Given the description of an element on the screen output the (x, y) to click on. 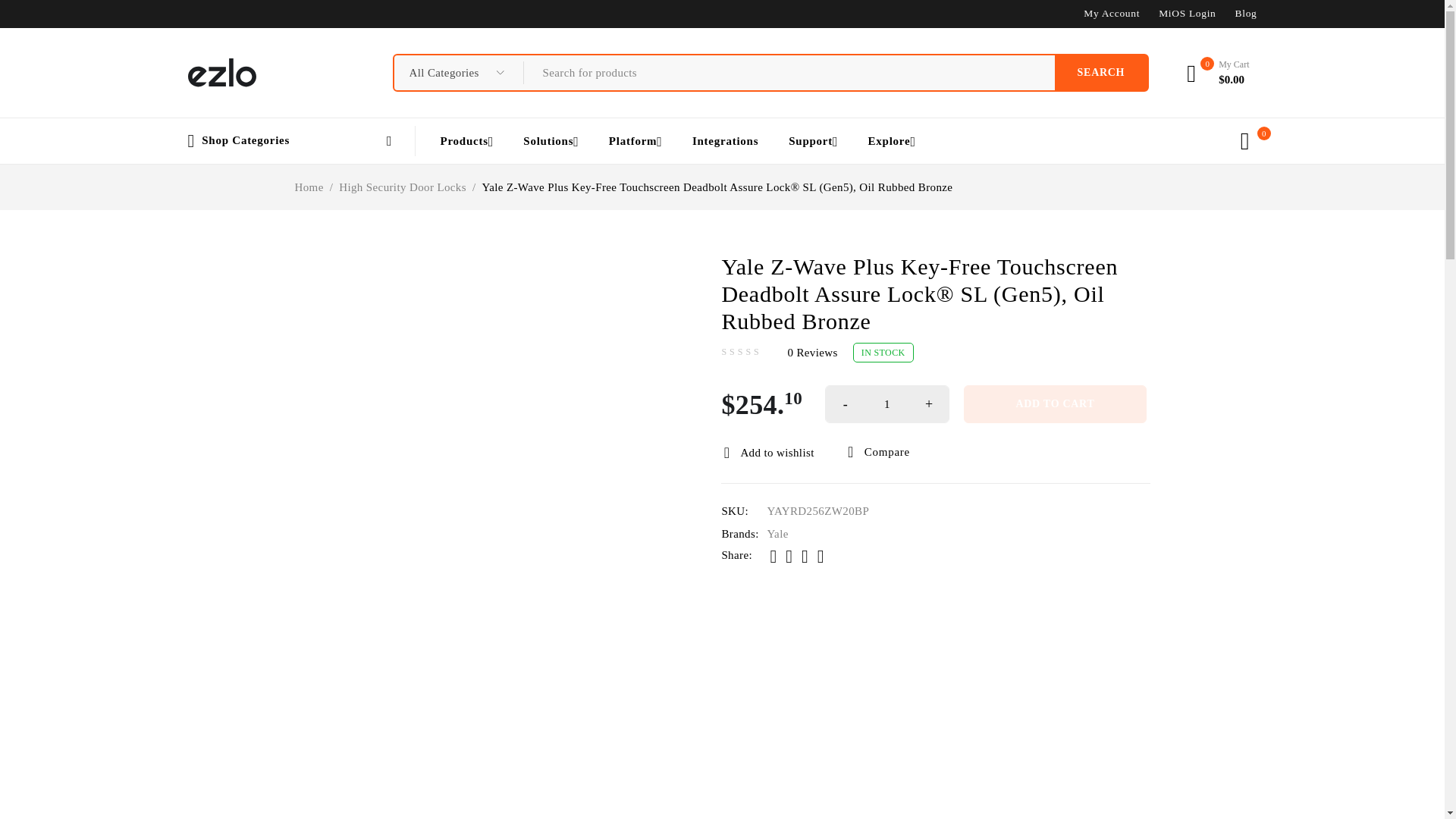
MiOS Login (1186, 13)
1 (887, 403)
Wishlist (1245, 140)
Search (1101, 72)
Search (1101, 72)
Search (1101, 72)
Ezlo (221, 72)
Blog (1245, 13)
My Account (1111, 13)
- (845, 403)
